Given the description of an element on the screen output the (x, y) to click on. 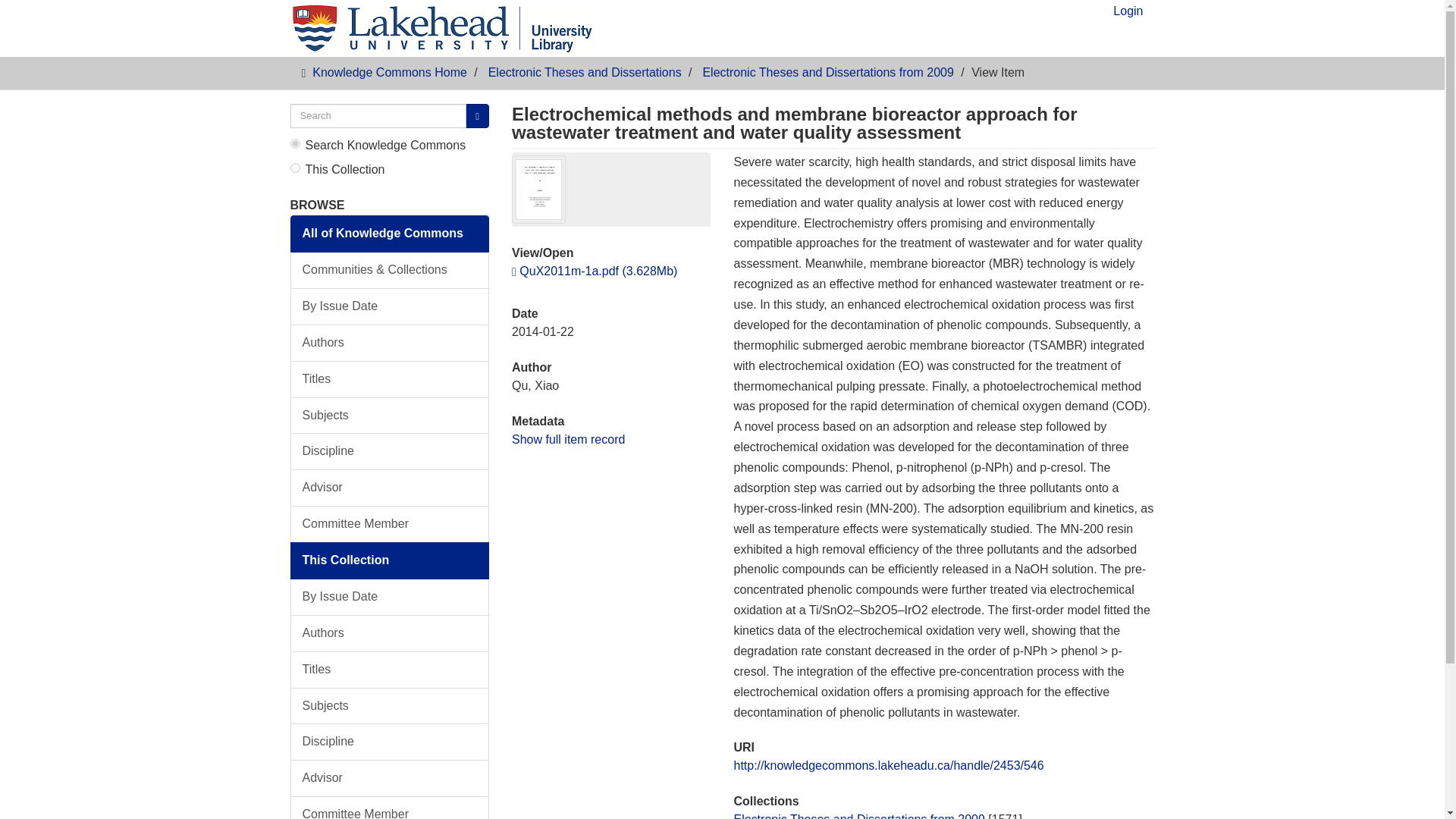
Show full item record (568, 438)
Committee Member (389, 807)
Discipline (389, 741)
All of Knowledge Commons (389, 233)
Electronic Theses and Dissertations from 2009 (827, 72)
Advisor (389, 778)
Knowledge Commons Home (390, 72)
Subjects (389, 415)
This Collection (389, 560)
Advisor (389, 487)
Login (1128, 15)
Titles (389, 379)
By Issue Date (389, 596)
Electronic Theses and Dissertations from 2009 (858, 816)
Discipline (389, 451)
